Given the description of an element on the screen output the (x, y) to click on. 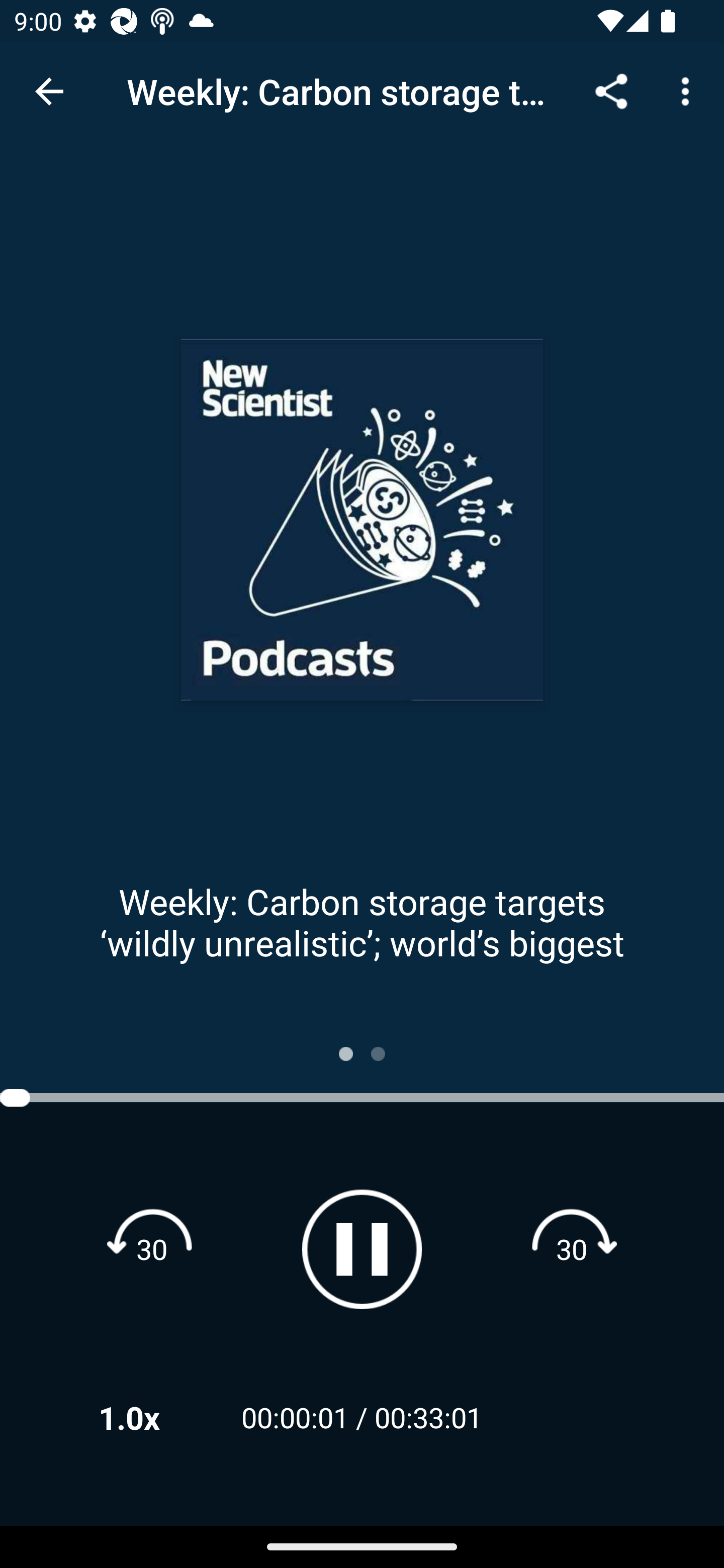
Navigate up (49, 91)
Share... (611, 90)
More options (688, 90)
Pause (361, 1249)
Rewind (151, 1248)
Fast forward (571, 1248)
1.0x Playback Speeds (154, 1417)
00:33:01 (428, 1417)
